Given the description of an element on the screen output the (x, y) to click on. 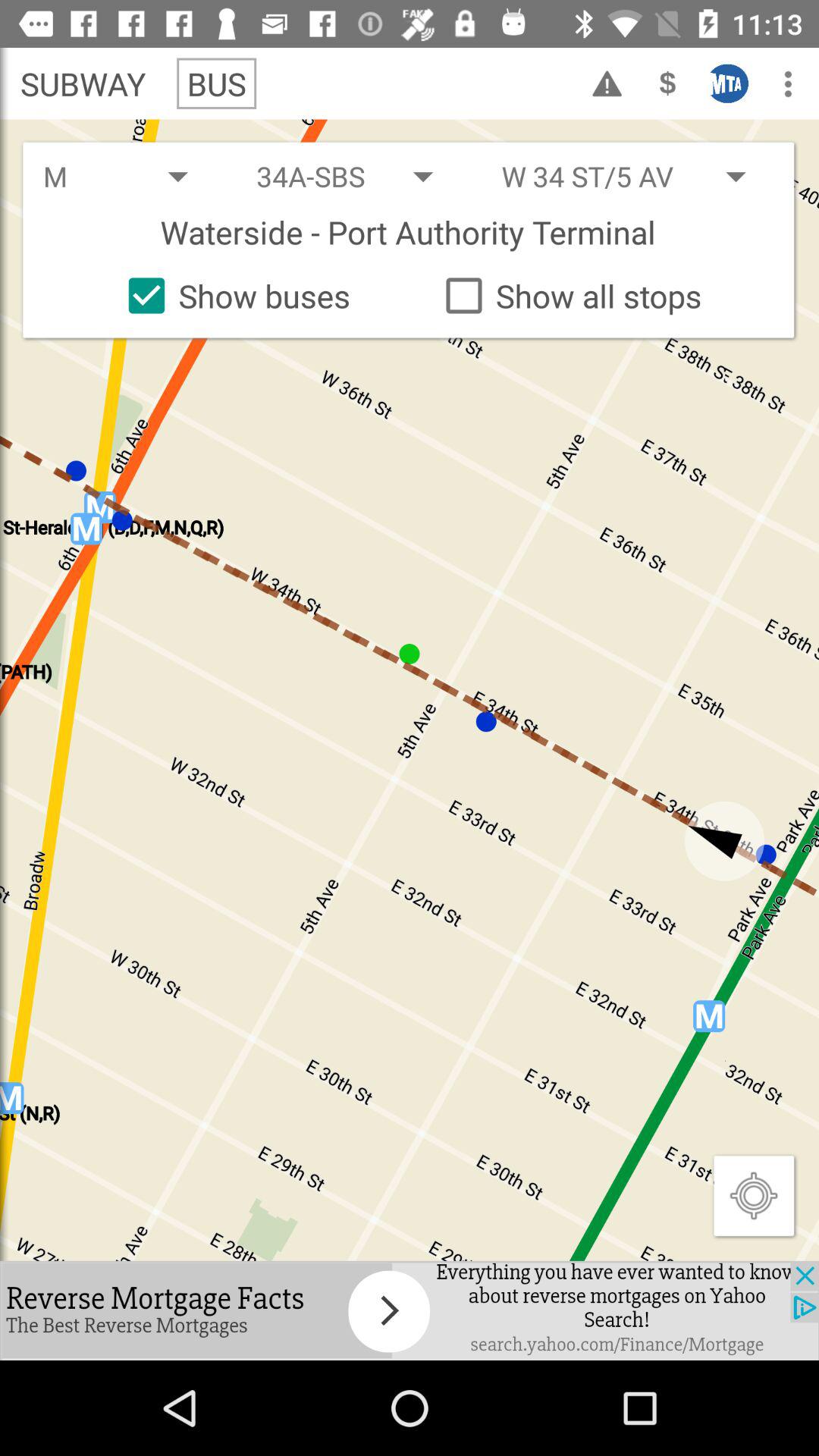
advertisement page (409, 1310)
